Given the description of an element on the screen output the (x, y) to click on. 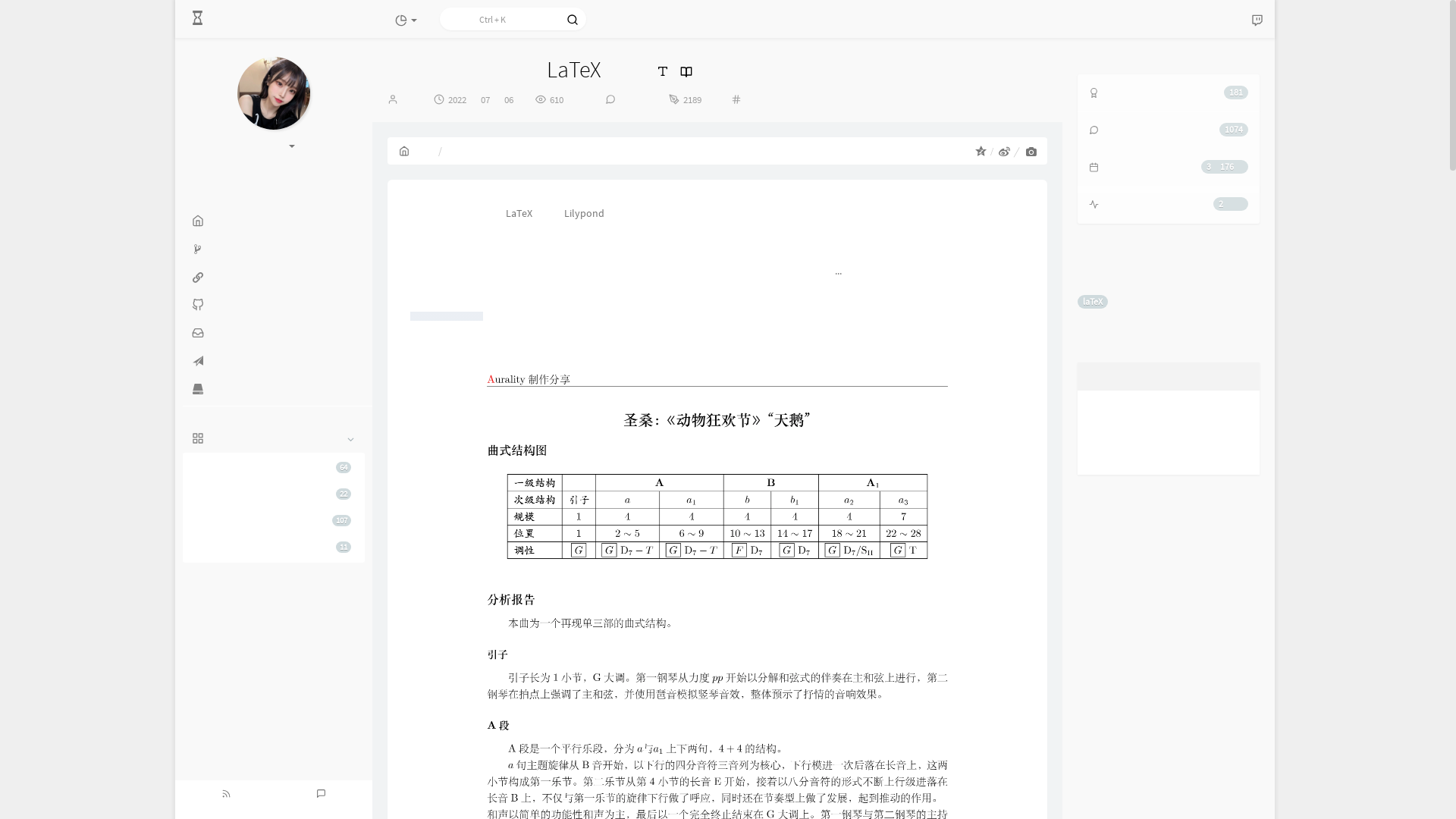
laTeX Element type: text (1092, 301)
